Given the description of an element on the screen output the (x, y) to click on. 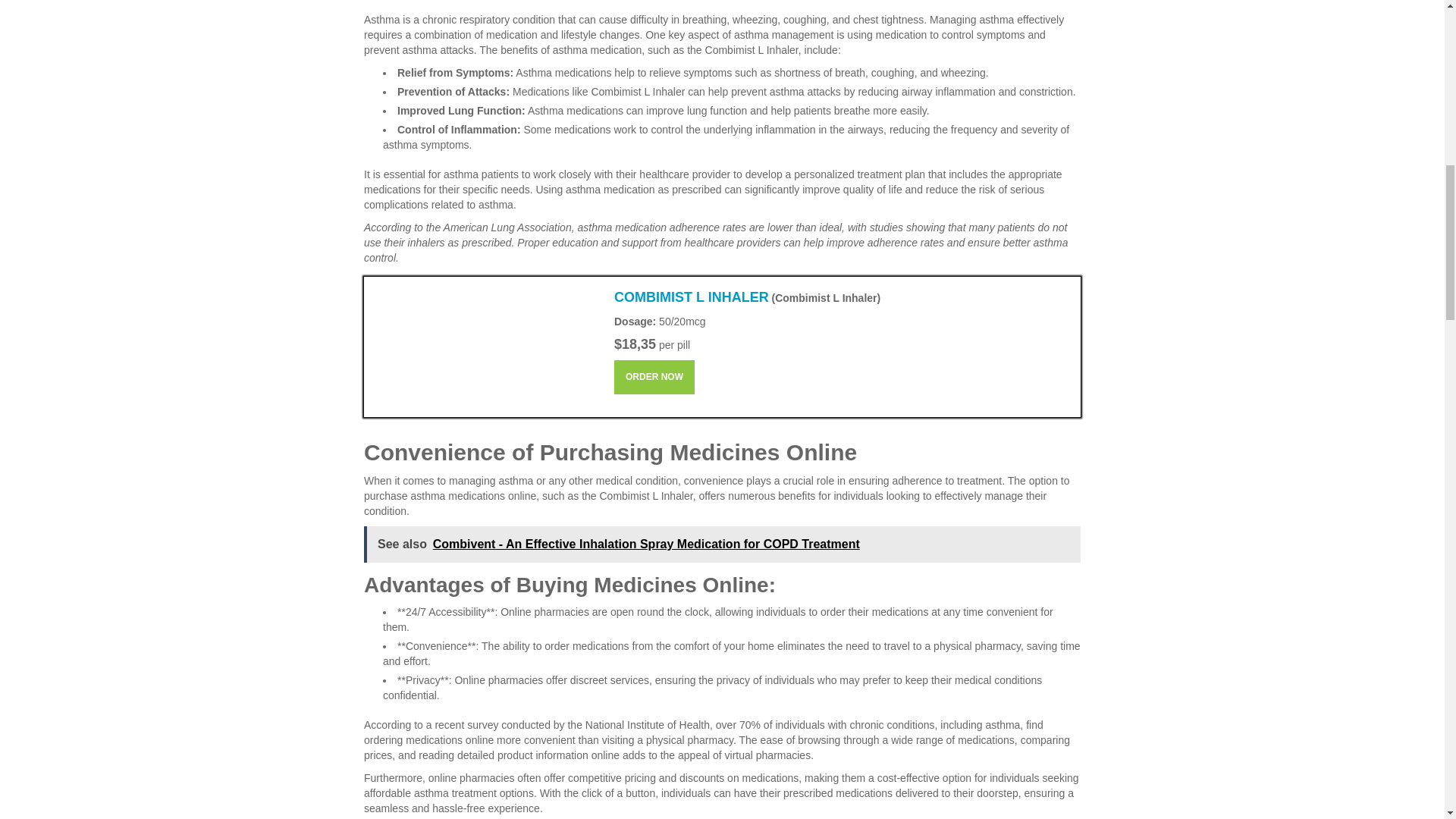
ORDER NOW (654, 376)
